Given the description of an element on the screen output the (x, y) to click on. 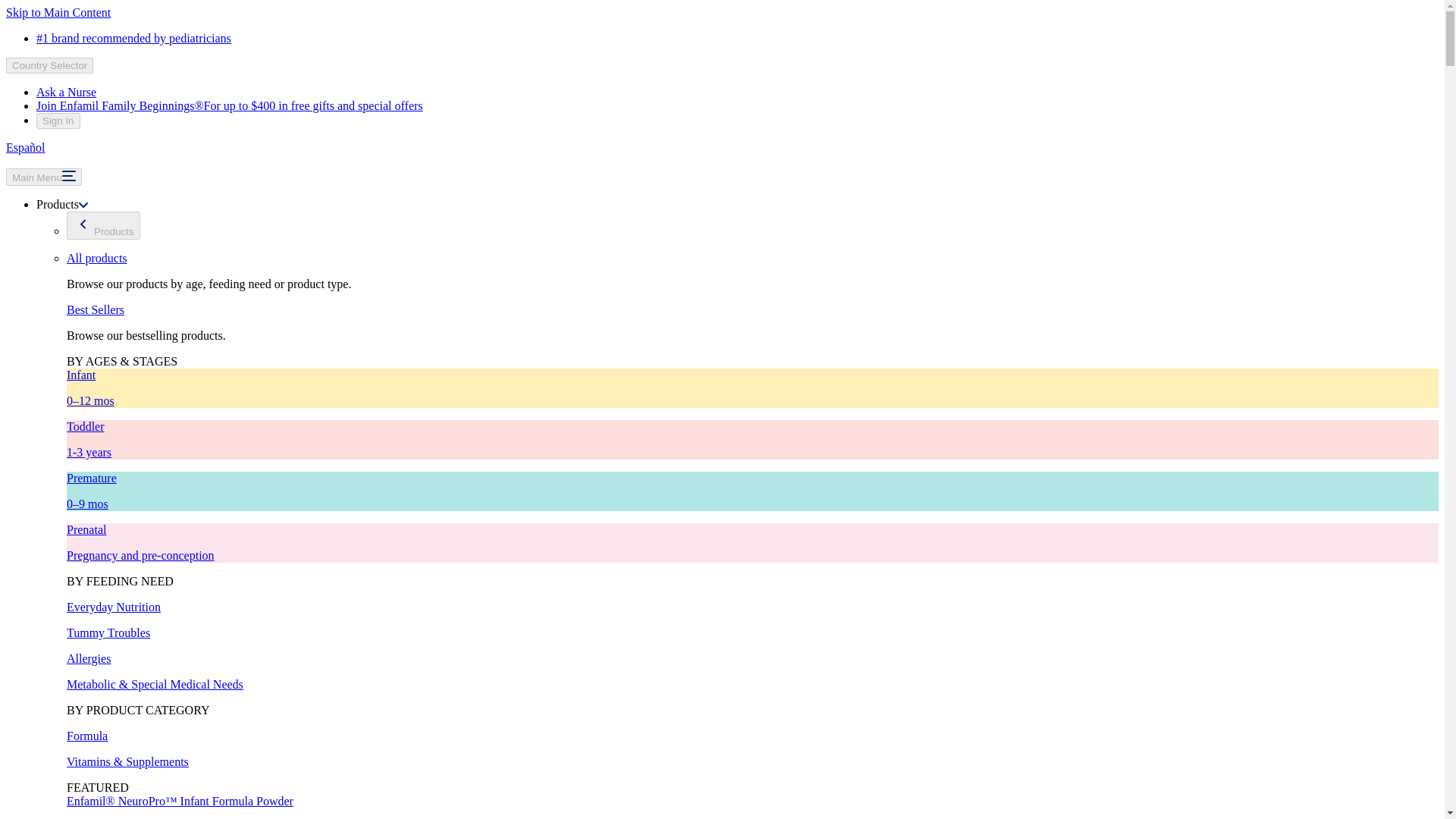
Best Sellers (94, 309)
Everyday Nutrition (113, 606)
Sign In (58, 120)
Created with Lunacy (83, 224)
Created with LunacyProducts (102, 225)
Tummy Troubles (107, 632)
All products (97, 257)
Products (61, 204)
Country Selector (49, 65)
Allergies (88, 658)
